Given the description of an element on the screen output the (x, y) to click on. 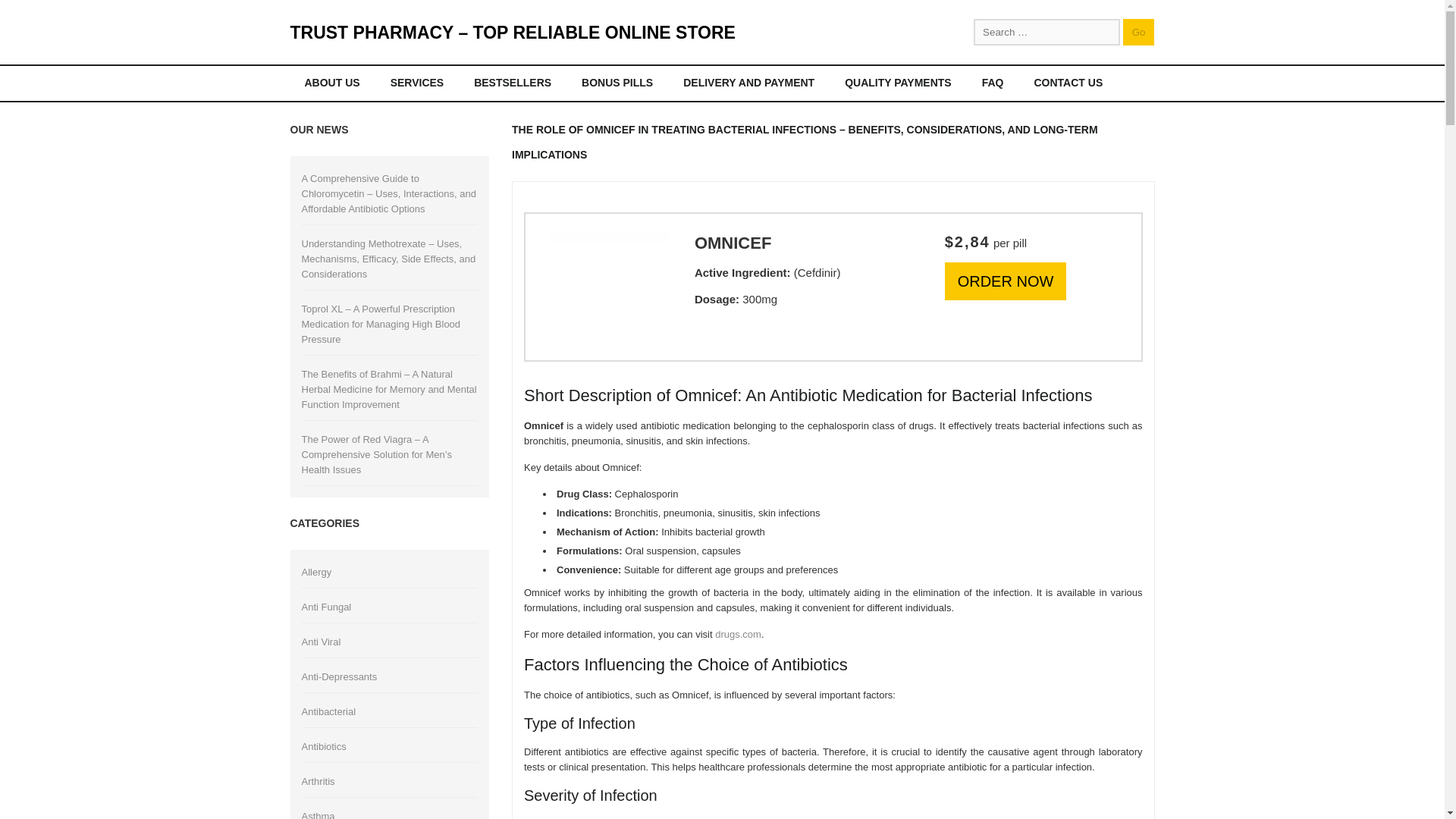
Anti Viral (320, 641)
Antibacterial (328, 711)
FAQ (992, 82)
Asthma (317, 814)
Anti Fungal (326, 606)
Arthritis (317, 781)
ABOUT US (331, 82)
Allergy (316, 572)
CONTACT US (1067, 82)
Antibiotics (323, 746)
